Given the description of an element on the screen output the (x, y) to click on. 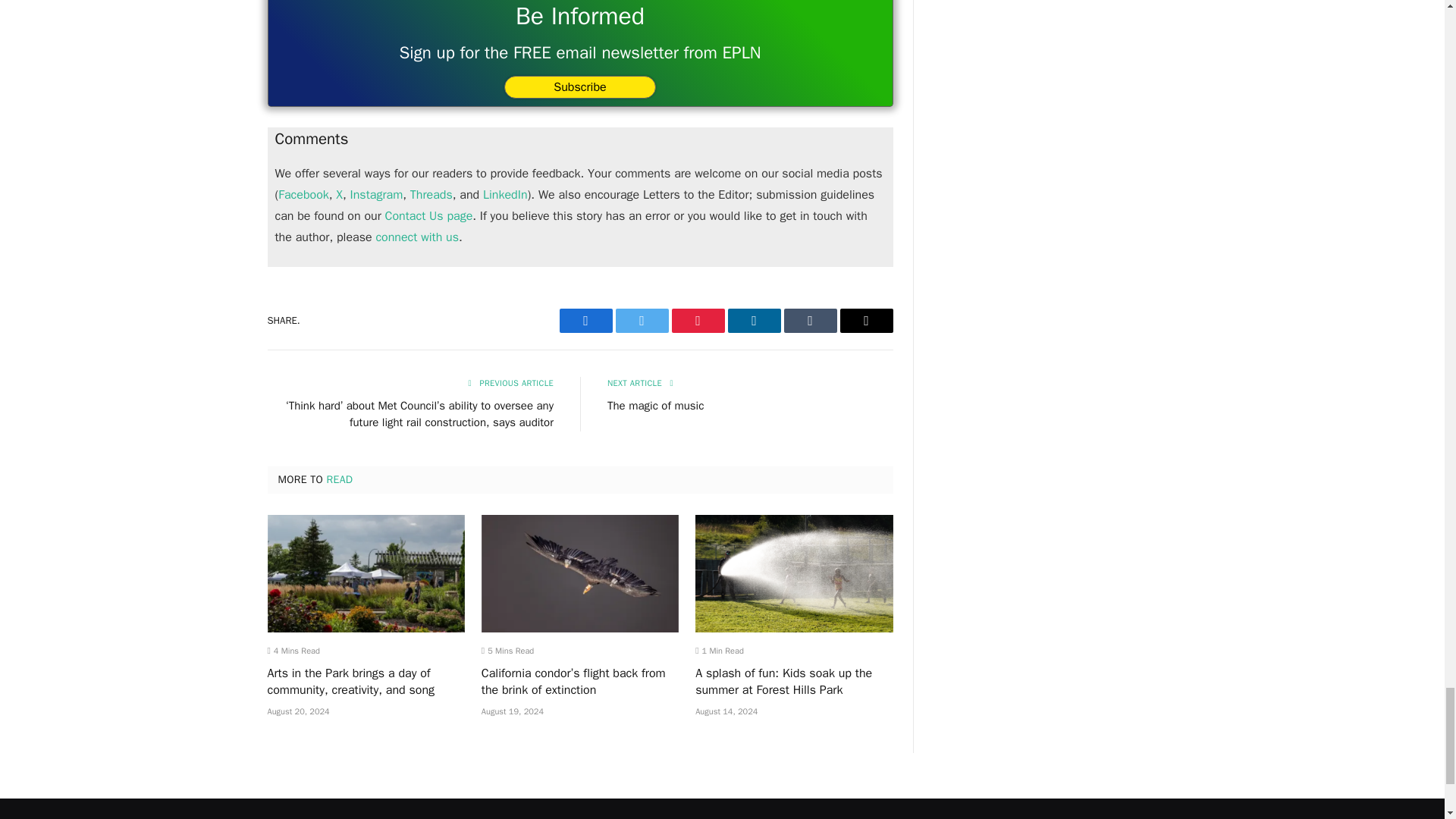
Share via Email (866, 320)
Share on Pinterest (698, 320)
Share on LinkedIn (754, 320)
Share on Facebook (585, 320)
Share on Tumblr (810, 320)
